Given the description of an element on the screen output the (x, y) to click on. 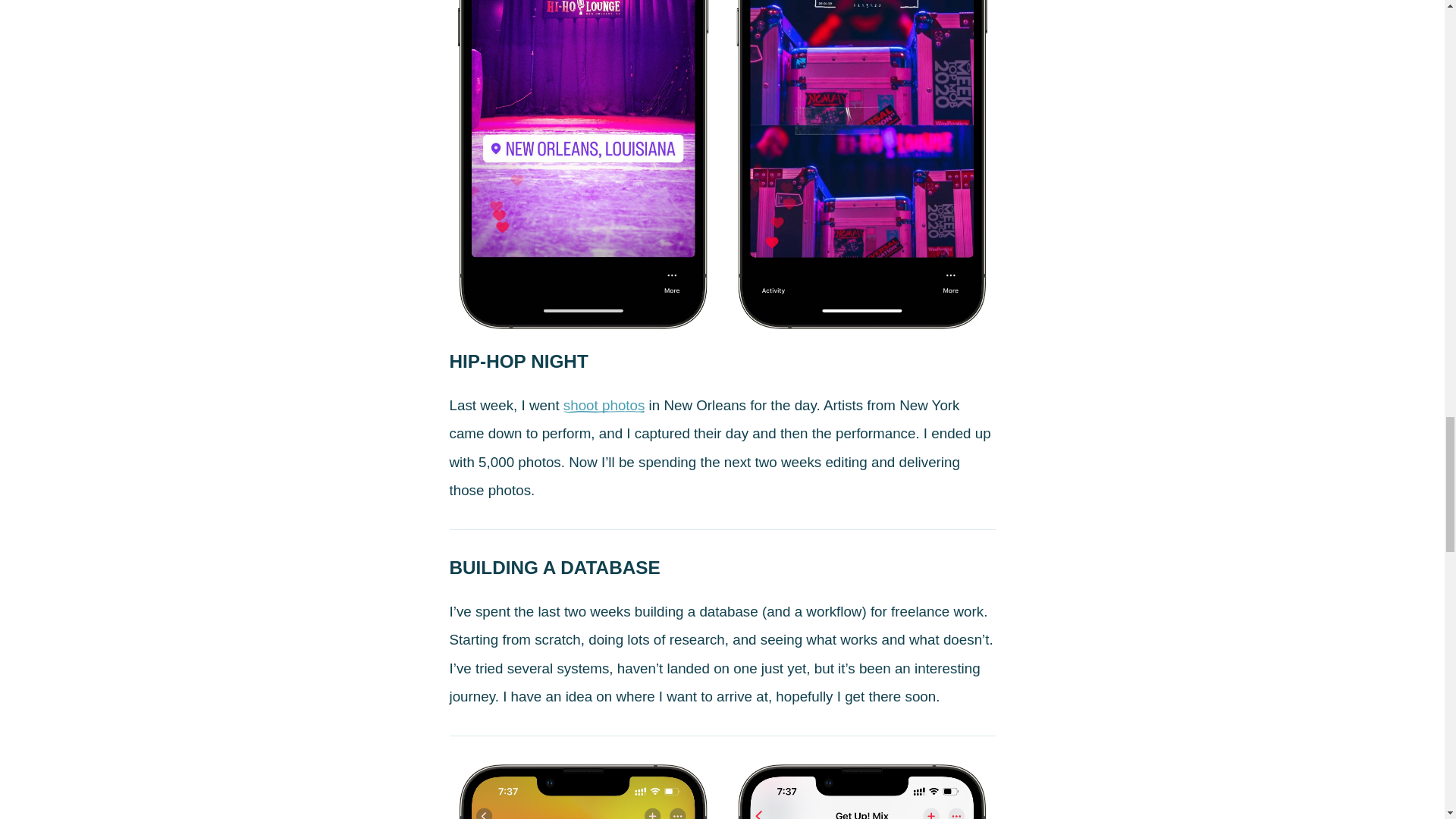
shoot photos (604, 405)
